Given the description of an element on the screen output the (x, y) to click on. 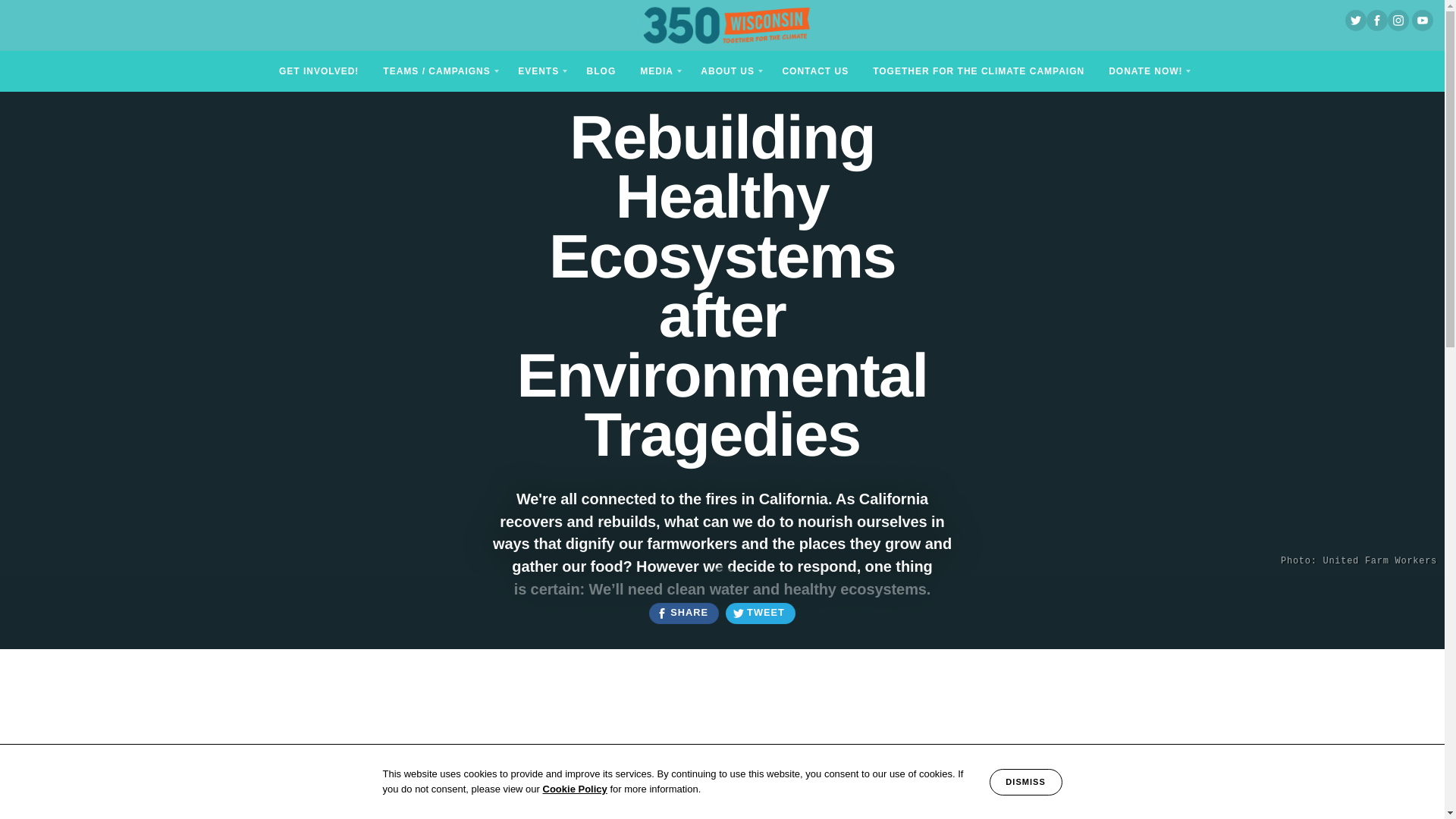
BLOG (601, 70)
EVENTS (539, 70)
ABOUT US (729, 70)
DONATE NOW! (1147, 70)
CONTACT US (815, 70)
GET INVOLVED! (318, 70)
MEDIA (657, 70)
TOGETHER FOR THE CLIMATE CAMPAIGN (978, 70)
